Given the description of an element on the screen output the (x, y) to click on. 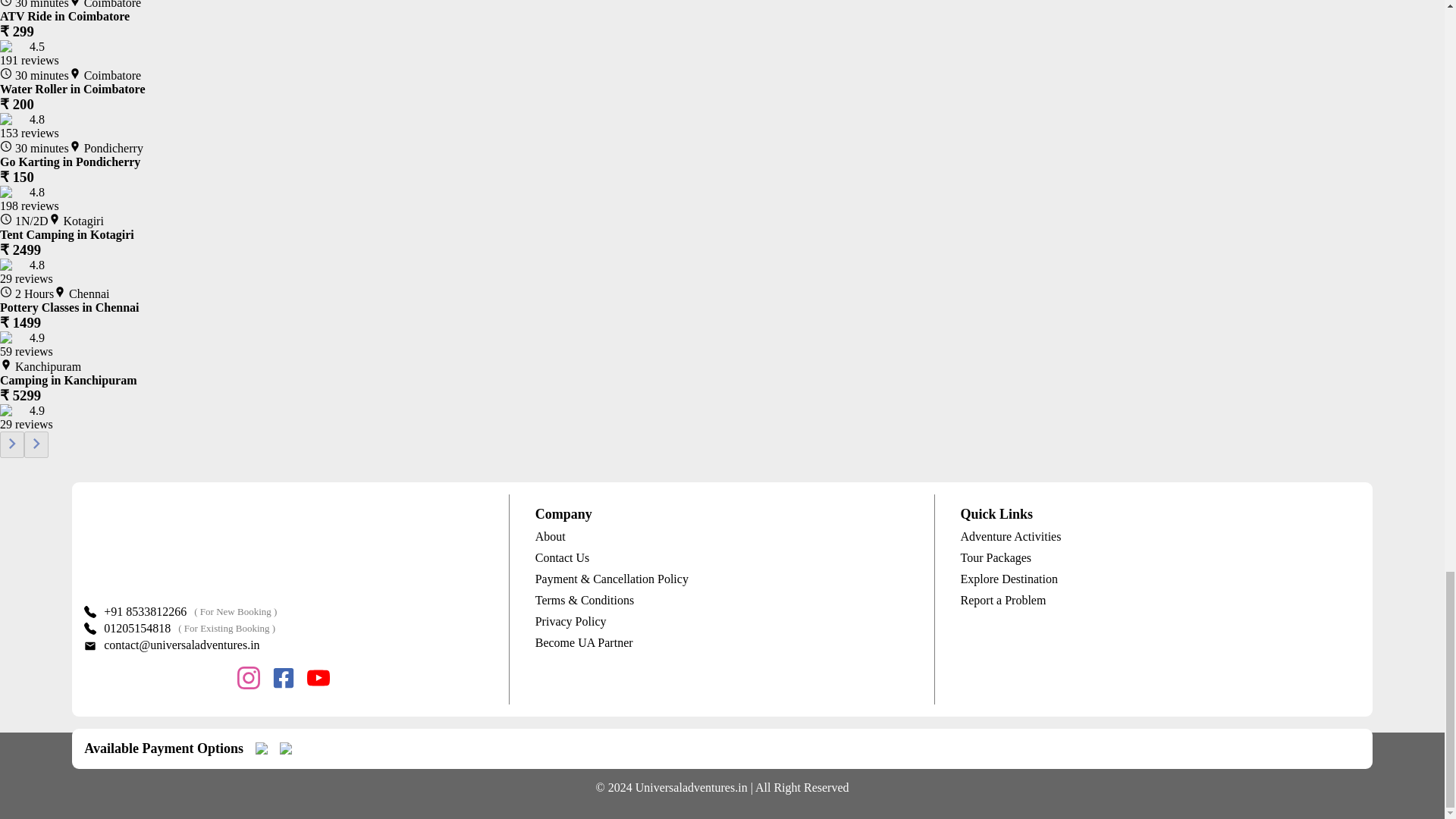
Contact Us (721, 558)
About (721, 536)
